Given the description of an element on the screen output the (x, y) to click on. 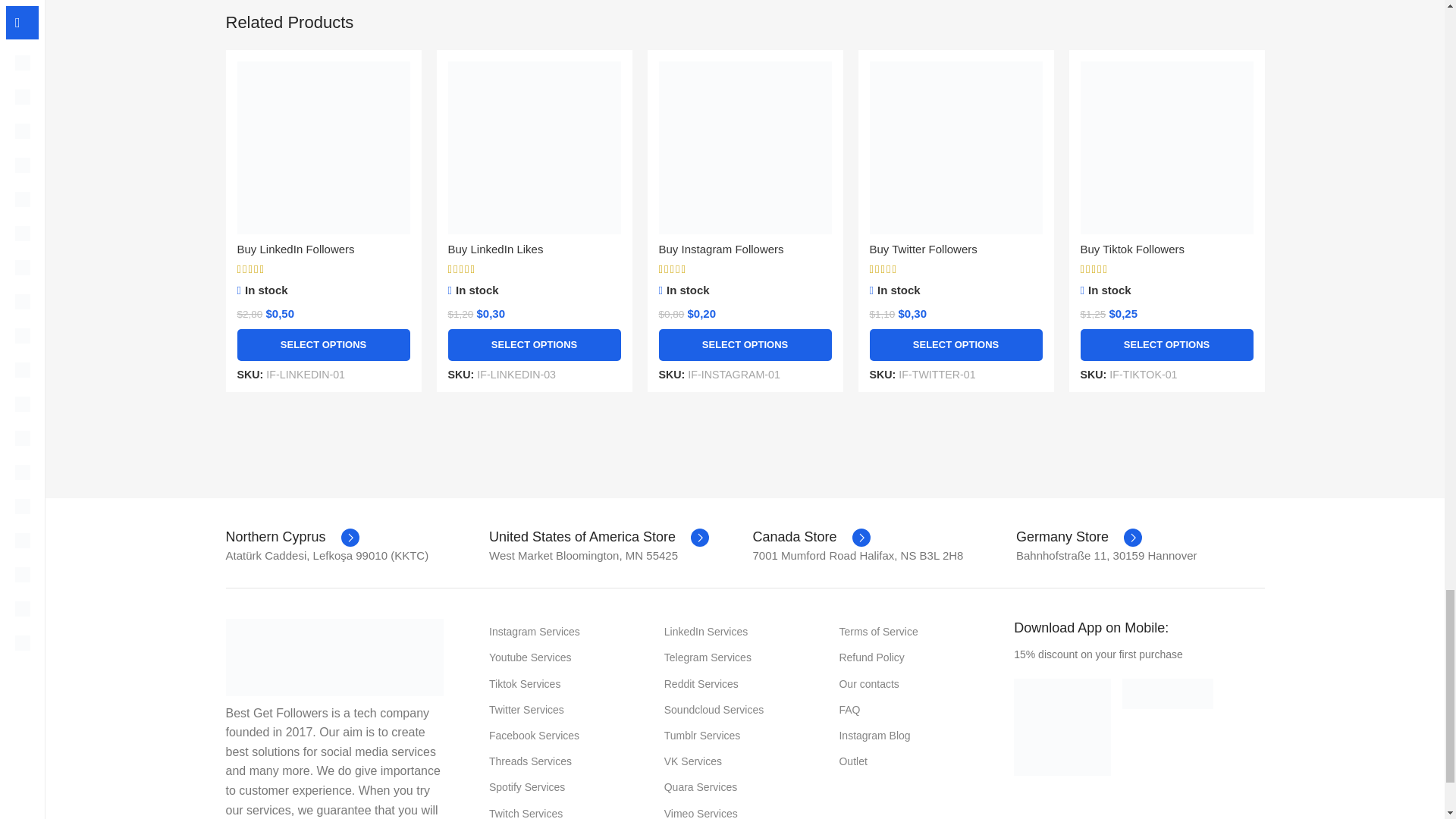
google-play (1061, 726)
app-store (1167, 693)
